Given the description of an element on the screen output the (x, y) to click on. 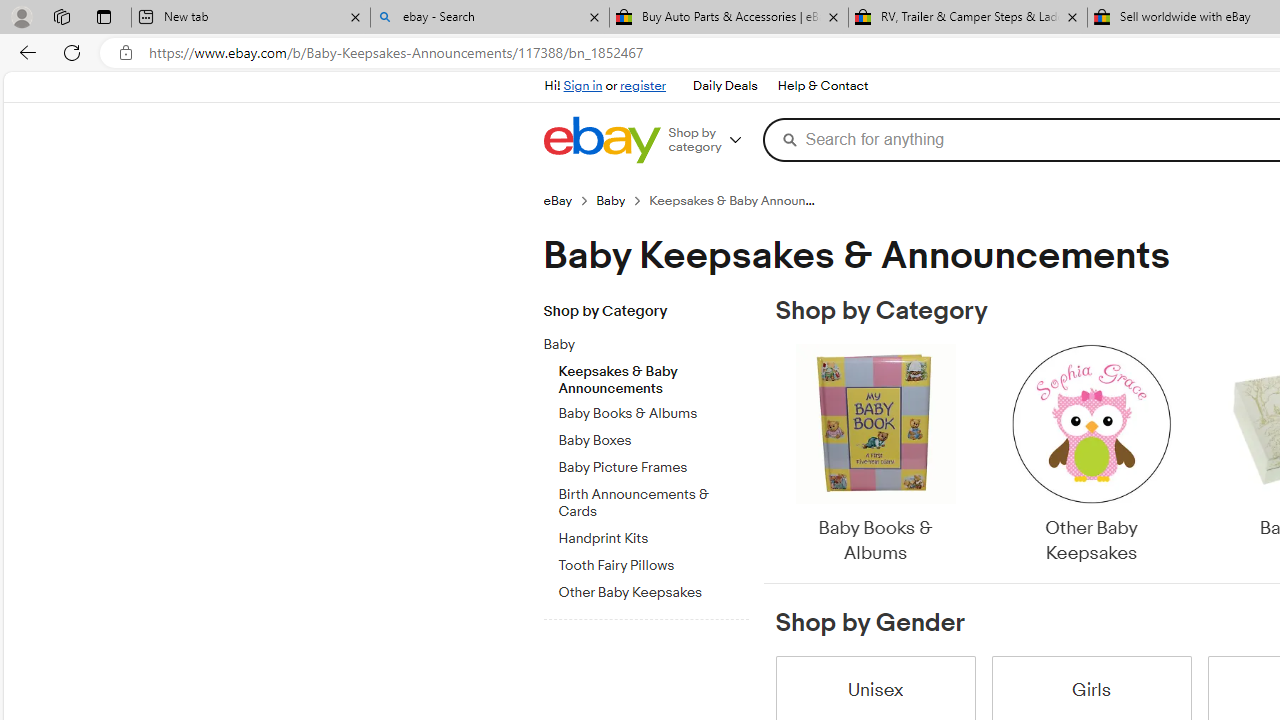
register (642, 85)
Other Baby Keepsakes (1090, 455)
Shop by category (711, 140)
Help & Contact (822, 86)
Other Baby Keepsakes (1090, 455)
Daily Deals (724, 86)
